Given the description of an element on the screen output the (x, y) to click on. 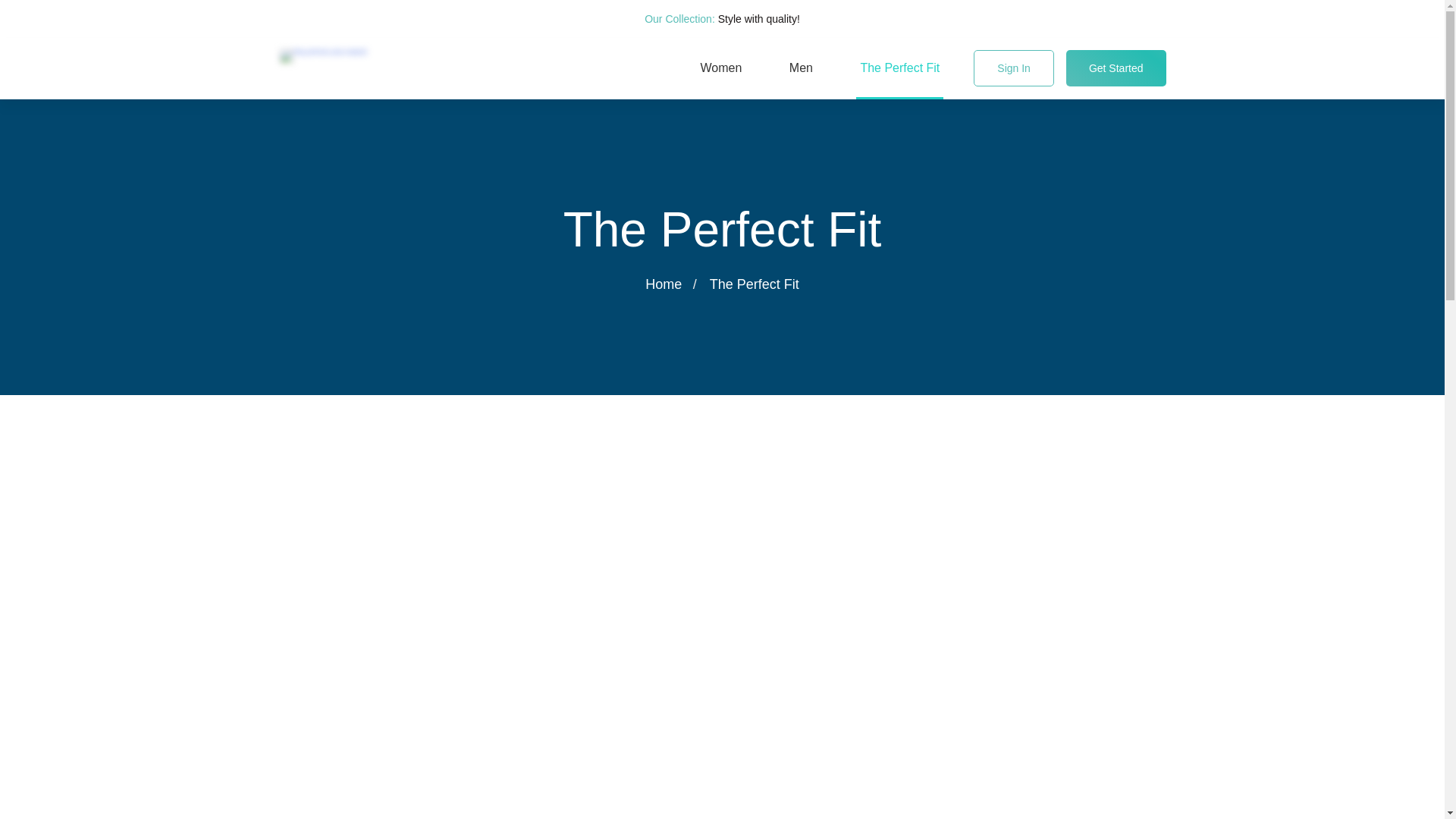
Men (800, 68)
Women (721, 68)
Home (663, 283)
Get Started (1115, 67)
Sign In (1014, 67)
Our Collection: (679, 19)
The Perfect Fit (899, 68)
